Given the description of an element on the screen output the (x, y) to click on. 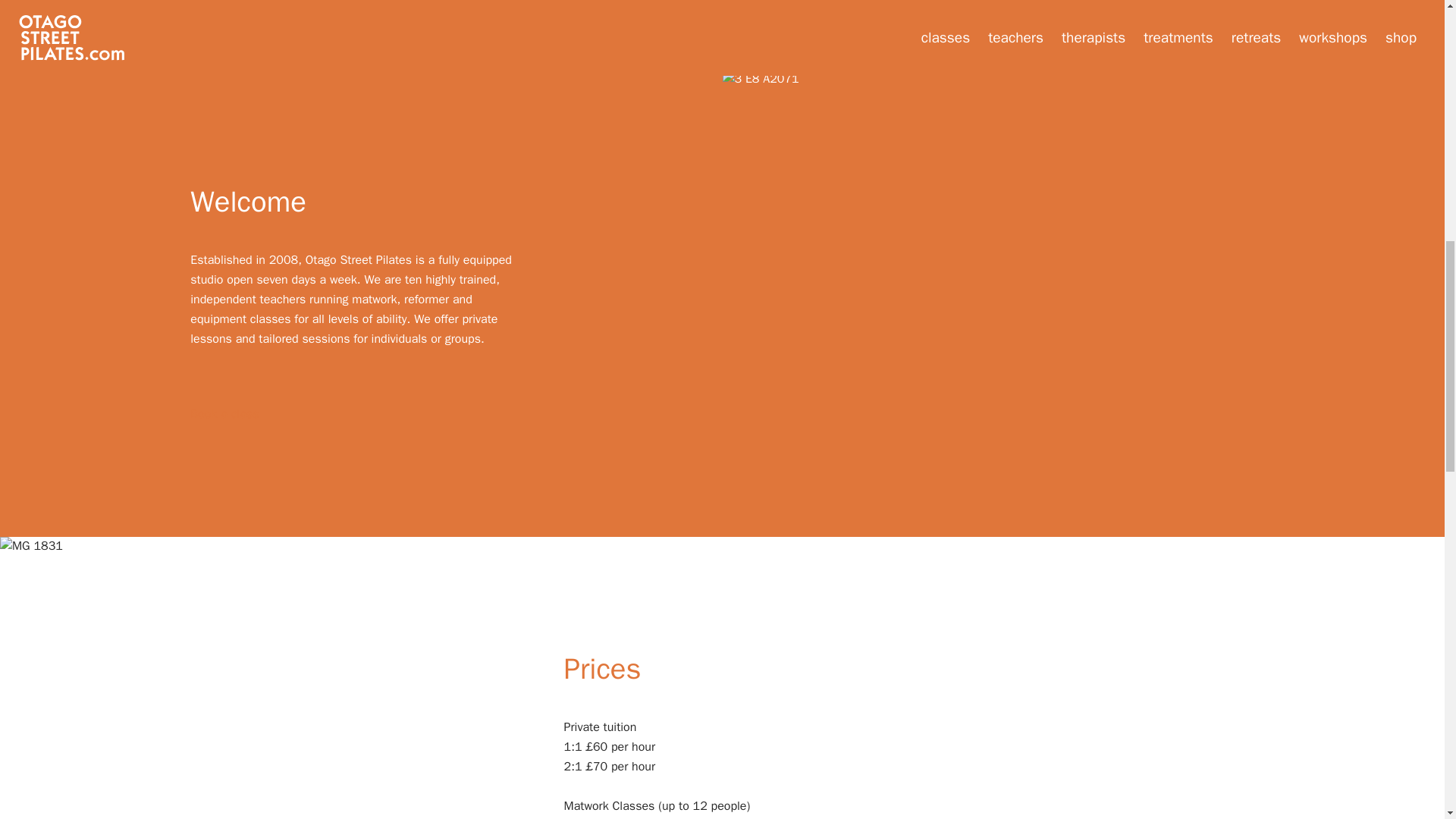
Book a class (224, 413)
